Given the description of an element on the screen output the (x, y) to click on. 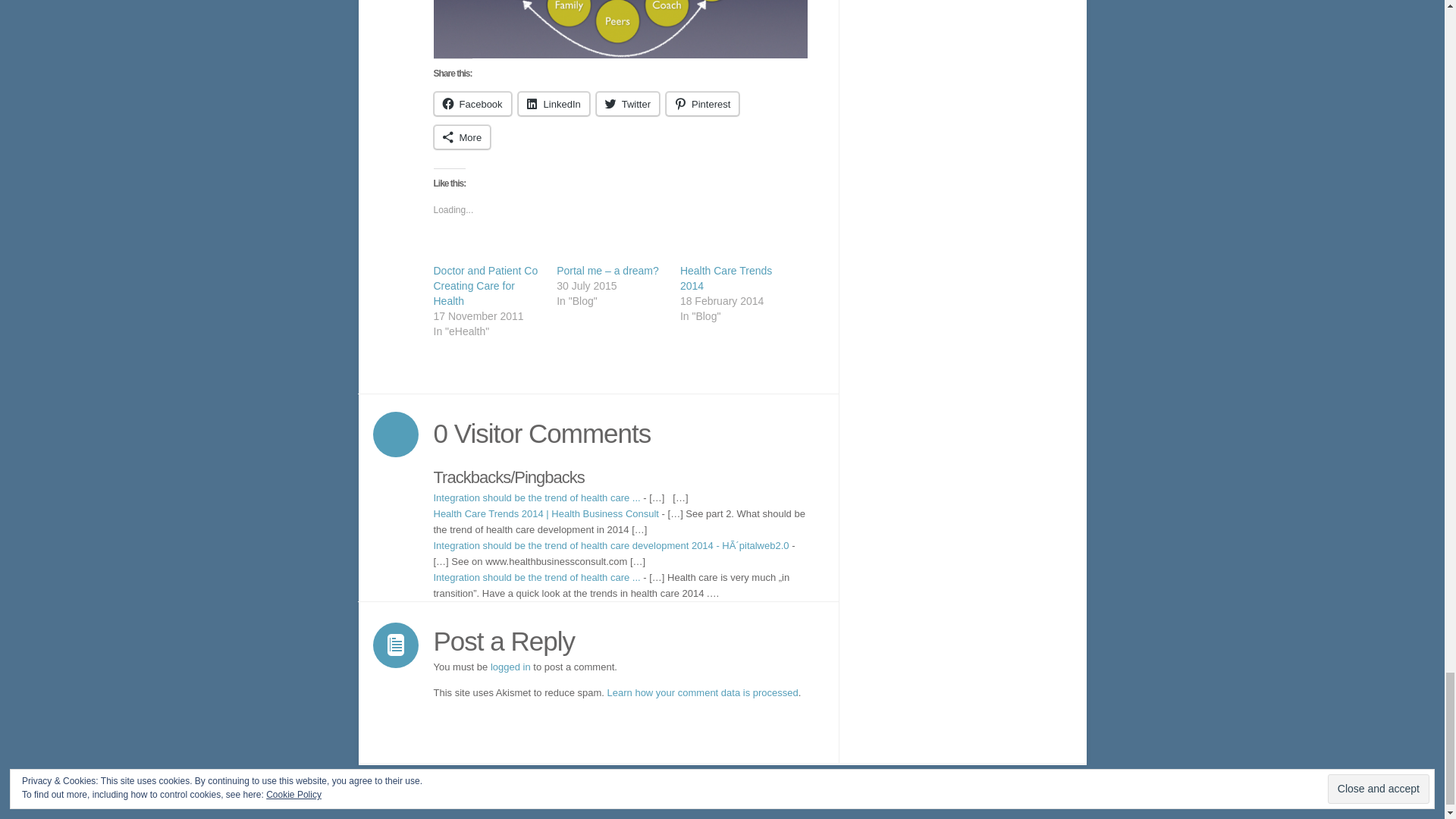
Click to share on Facebook (472, 103)
Click to share on Twitter (627, 103)
Doctor and Patient Co Creating Care for Health (485, 285)
Click to share on Pinterest (702, 103)
Click to share on LinkedIn (553, 103)
